Given the description of an element on the screen output the (x, y) to click on. 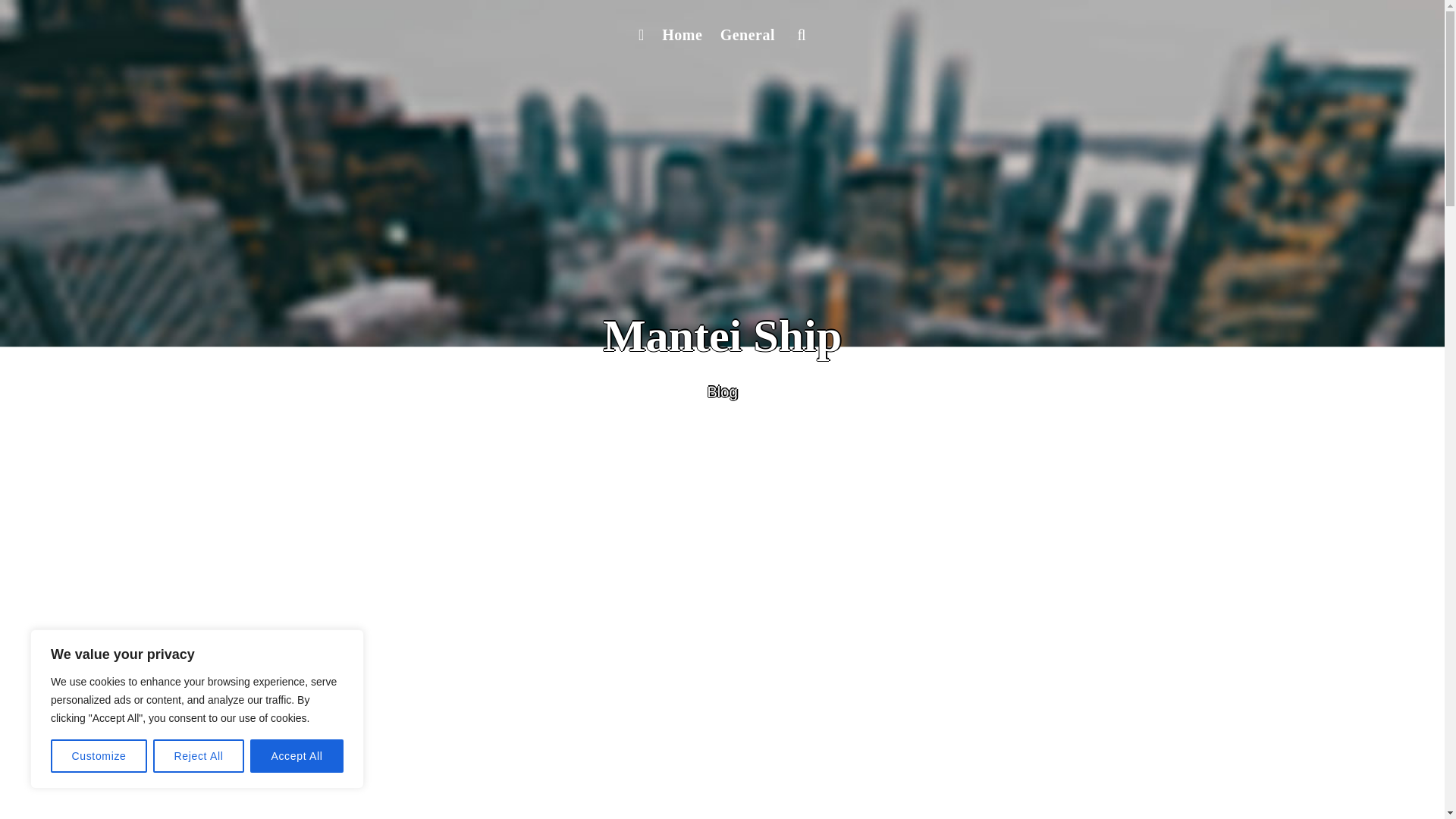
Reject All (198, 756)
Customize (98, 756)
General (747, 35)
Mantei Ship (721, 336)
Home (681, 35)
Accept All (296, 756)
